Given the description of an element on the screen output the (x, y) to click on. 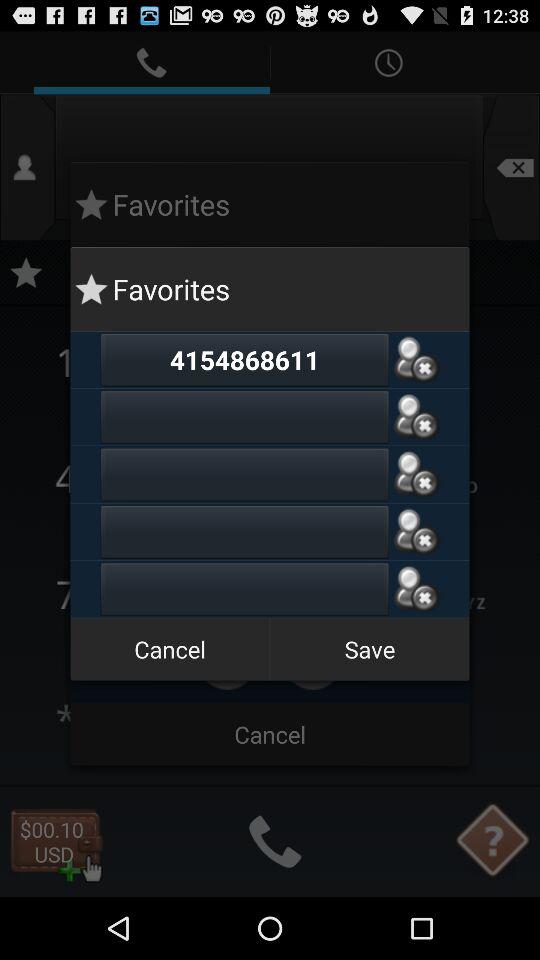
add contact (244, 474)
